Given the description of an element on the screen output the (x, y) to click on. 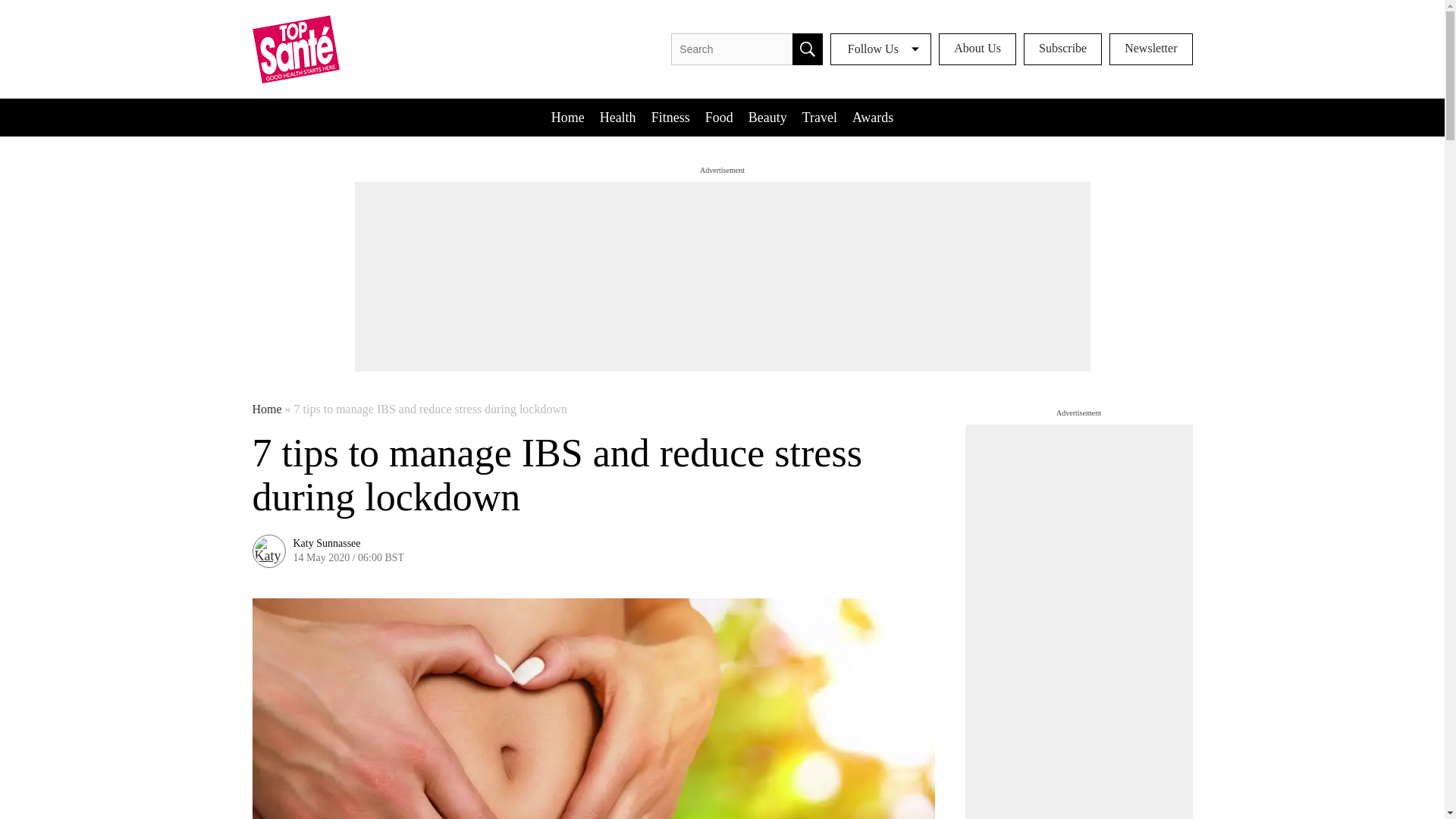
Fitness (670, 117)
Health (617, 117)
Search (807, 49)
Follow Us (880, 49)
Food (719, 117)
Home (567, 117)
Katy Sunnassee (325, 543)
About Us (977, 49)
Awards (872, 117)
Home (266, 409)
